Given the description of an element on the screen output the (x, y) to click on. 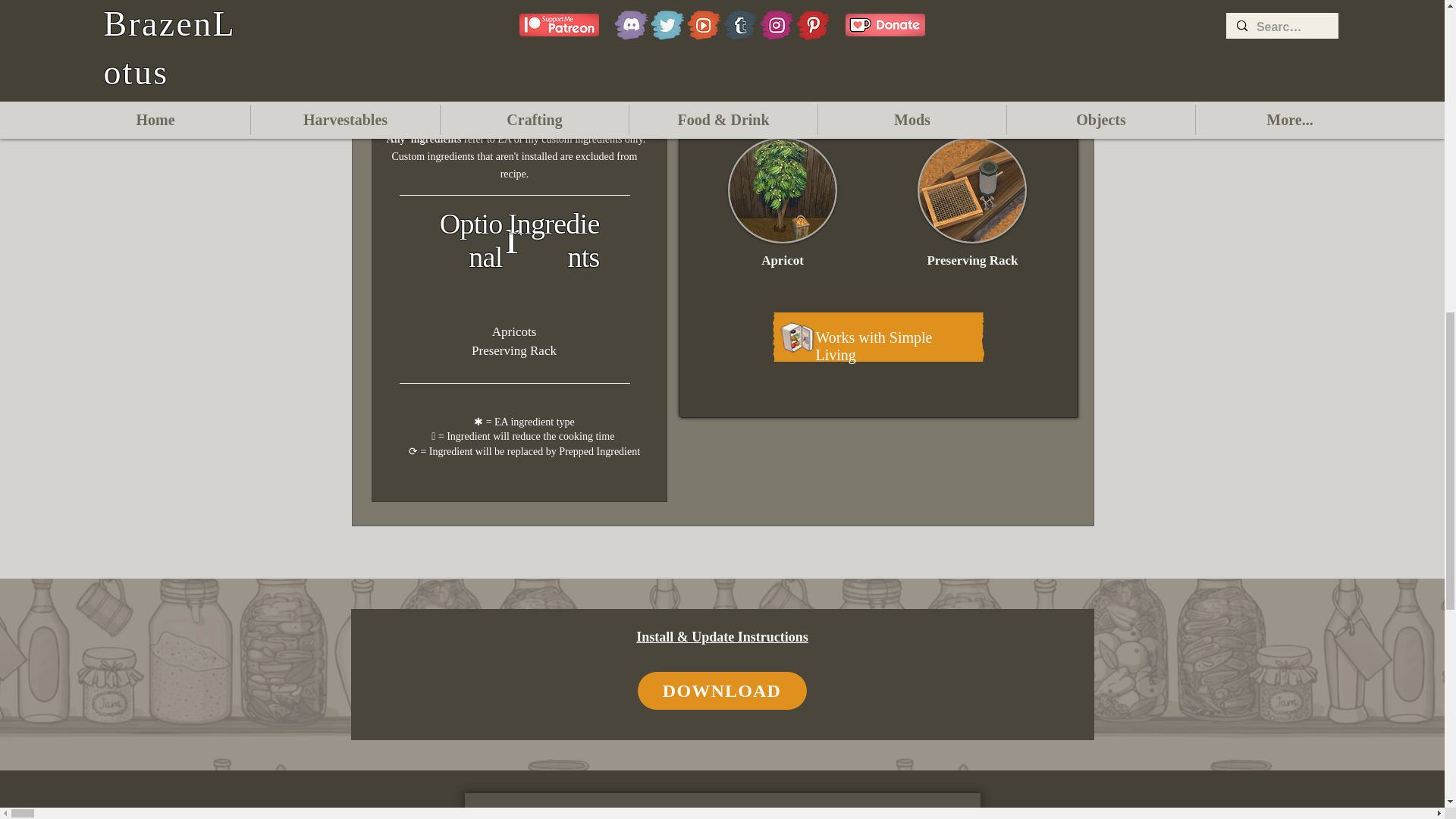
DOWNLOAD (721, 690)
Thank You!!! (685, 816)
crafting preserving rack .png (971, 190)
